Given the description of an element on the screen output the (x, y) to click on. 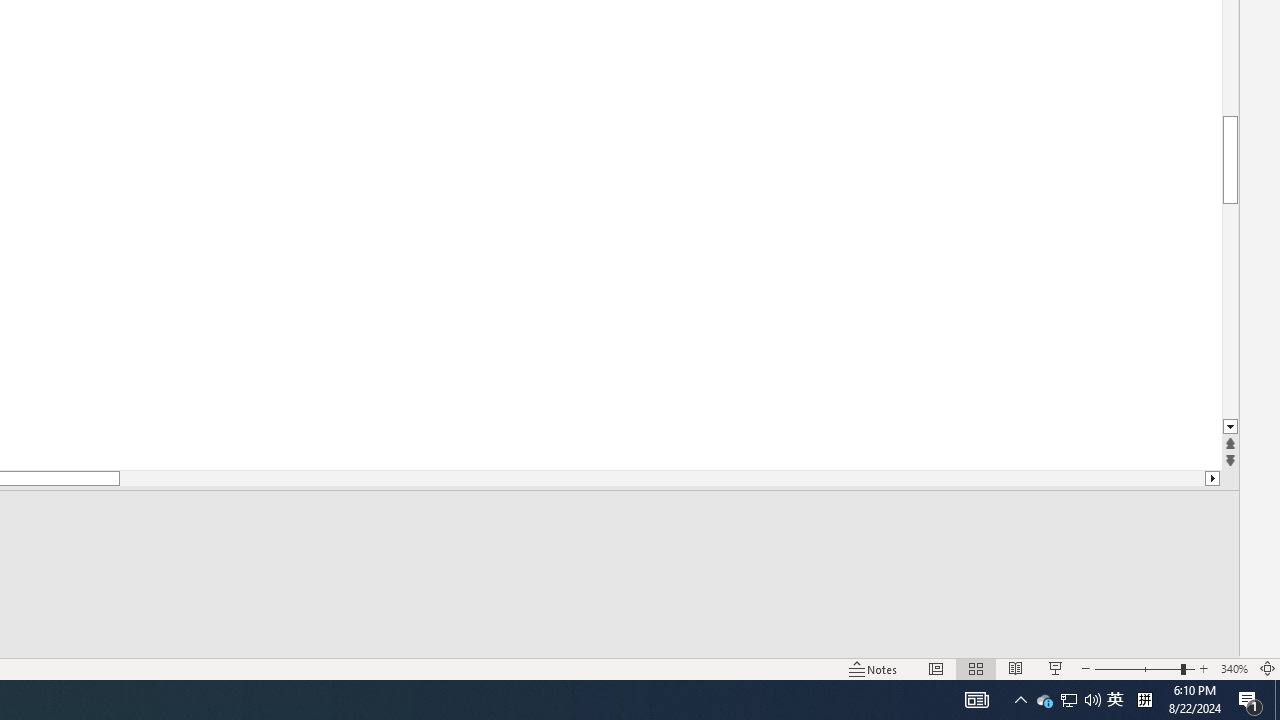
Zoom (1144, 668)
Slide Show (1055, 668)
Page down (1230, 312)
Notes  (874, 668)
Reading View (1015, 668)
Slide Sorter (975, 668)
Normal (936, 668)
Zoom In (1204, 668)
Line down (1230, 427)
Zoom 340% (1234, 668)
Zoom Out (1137, 668)
Zoom to Fit  (1267, 668)
